Given the description of an element on the screen output the (x, y) to click on. 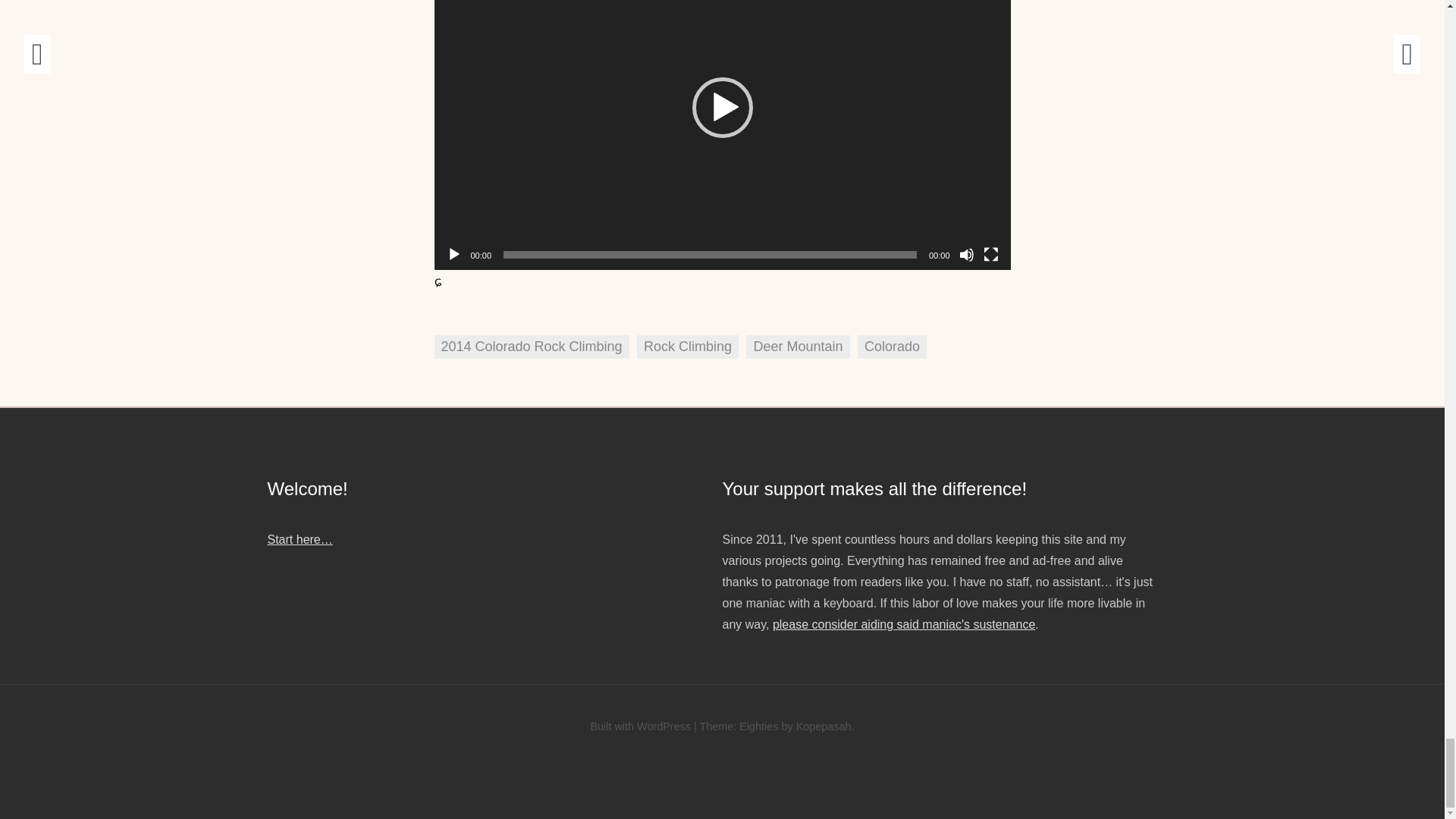
Play (453, 254)
